Given the description of an element on the screen output the (x, y) to click on. 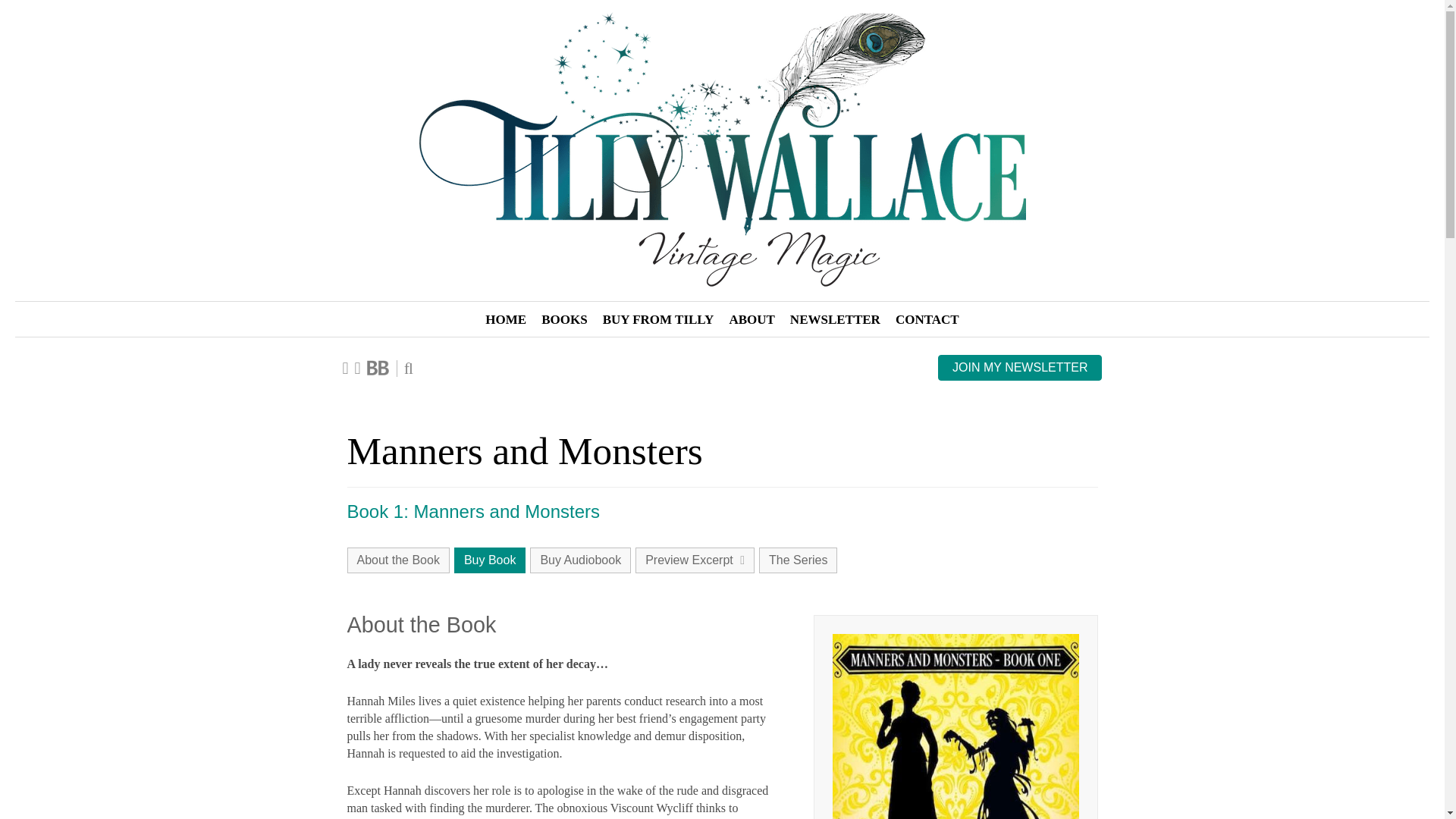
BOOKS (564, 320)
About the Book (398, 560)
CONTACT (927, 320)
HOME (505, 320)
NEWSLETTER (835, 320)
BUY FROM TILLY (658, 320)
Follow on Facebook (345, 367)
Preview Excerpt (694, 560)
JOIN MY NEWSLETTER (1019, 367)
The Series (797, 560)
